Given the description of an element on the screen output the (x, y) to click on. 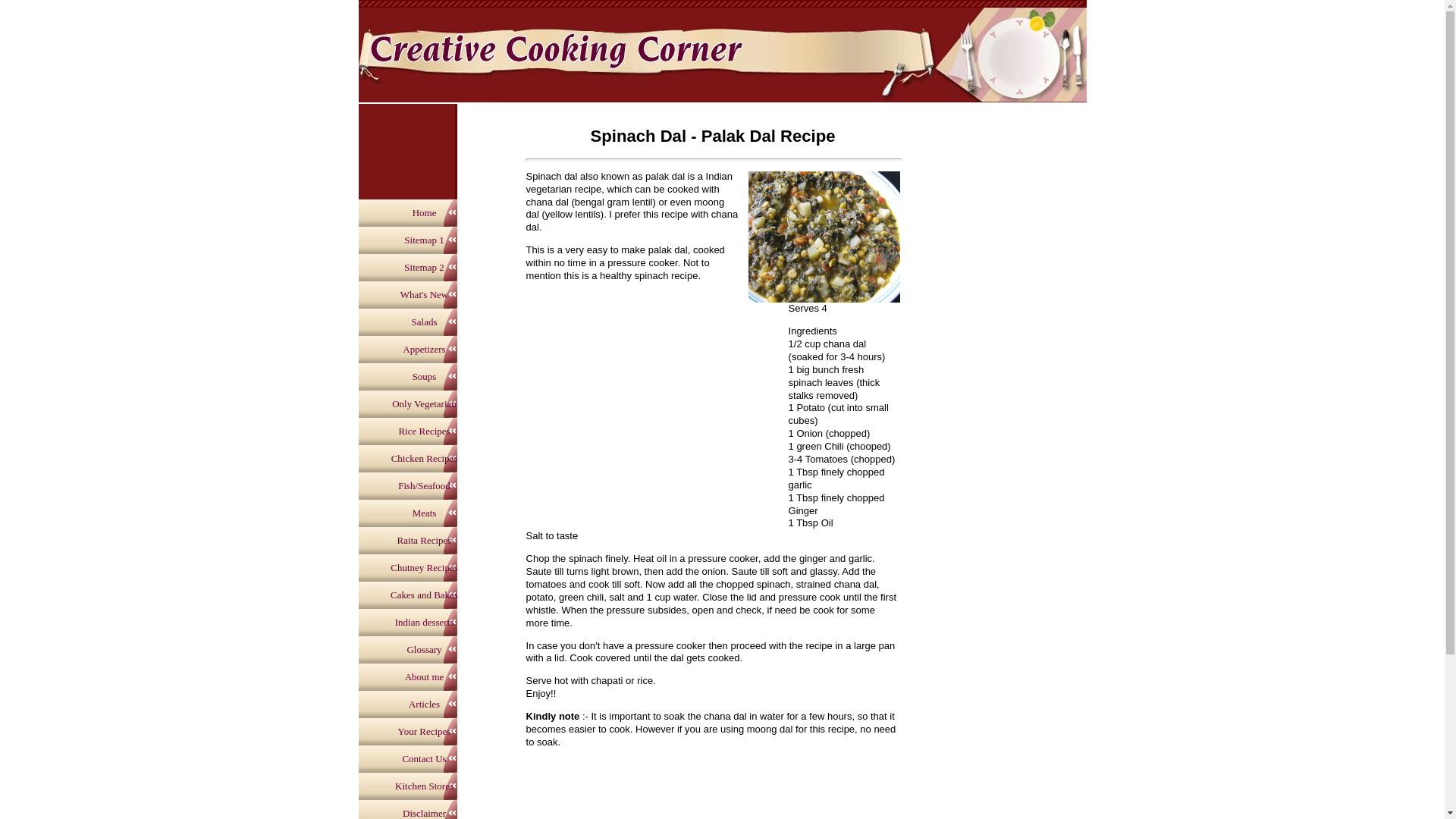
Home (423, 212)
Chutney Recipes (423, 567)
Disclaimer (423, 809)
Salads (423, 321)
Chicken Recipes (423, 458)
Glossary (423, 649)
Your Recipes (423, 731)
Cakes and Bakes (423, 595)
Advertisement (406, 152)
Contact Us (423, 759)
